Given the description of an element on the screen output the (x, y) to click on. 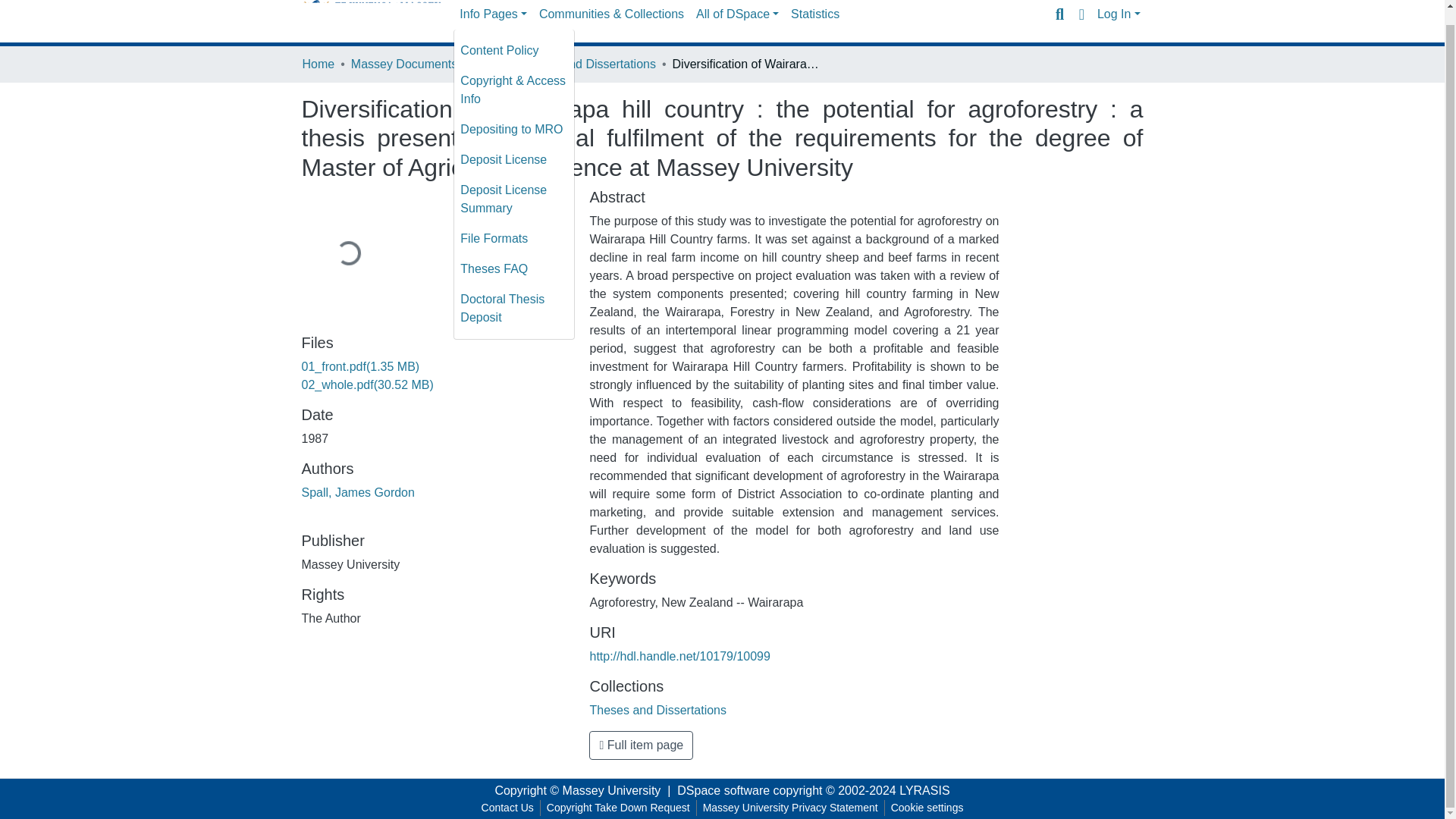
Statistics (814, 14)
Depositing to MRO (513, 129)
Spall, James Gordon (357, 492)
Massey Documents by Type (426, 64)
Theses and Dissertations (657, 709)
Theses and Dissertations (587, 64)
Full item page (641, 745)
Home (317, 64)
Info Pages (492, 14)
File Formats (513, 238)
Statistics (814, 14)
Deposit License (513, 159)
Theses FAQ (513, 268)
Doctoral Thesis Deposit (513, 308)
Log In (1118, 13)
